Given the description of an element on the screen output the (x, y) to click on. 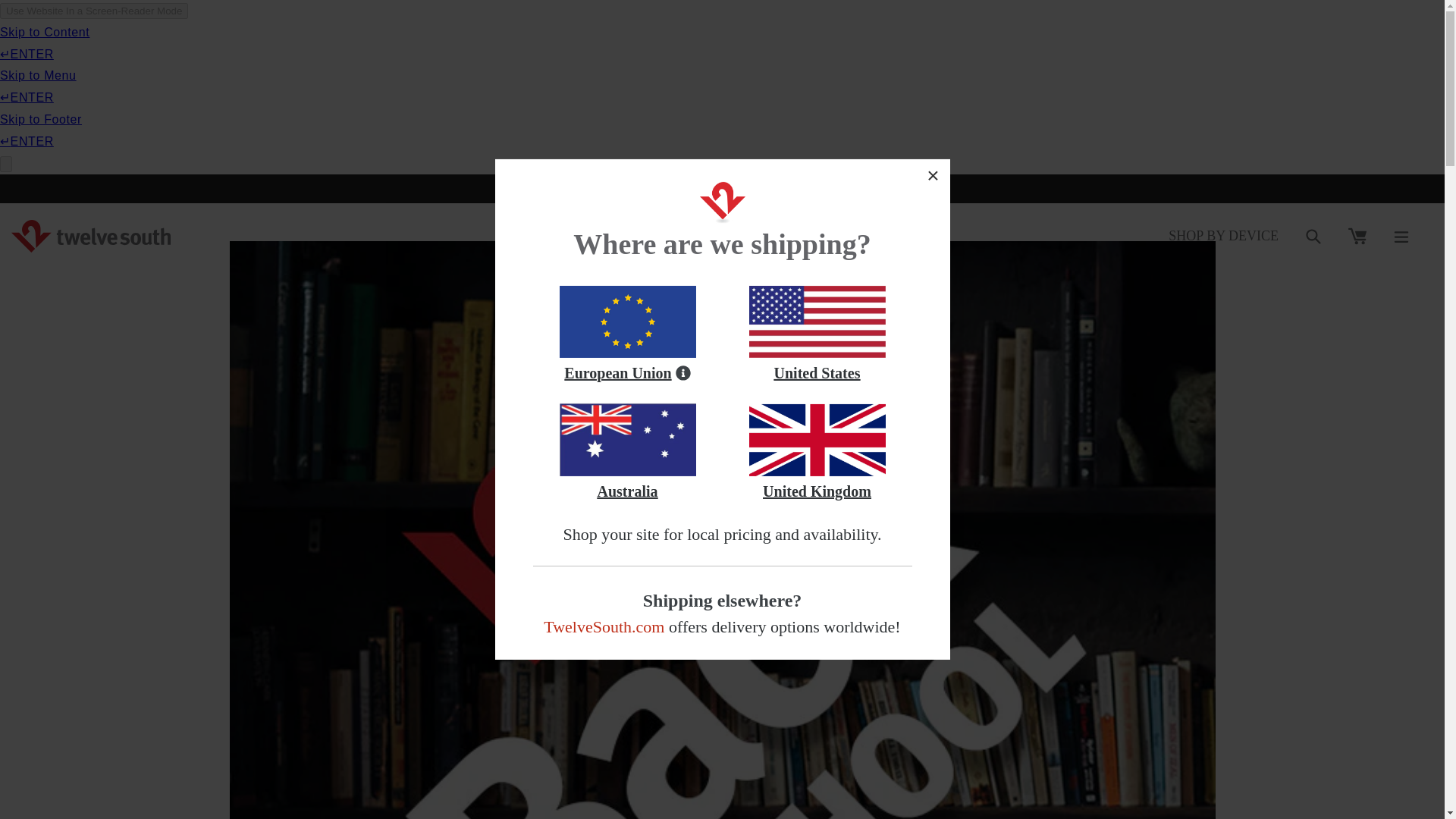
SHOP BY DEVICE (1223, 235)
Skip to content (45, 16)
Cart (1357, 235)
